Given the description of an element on the screen output the (x, y) to click on. 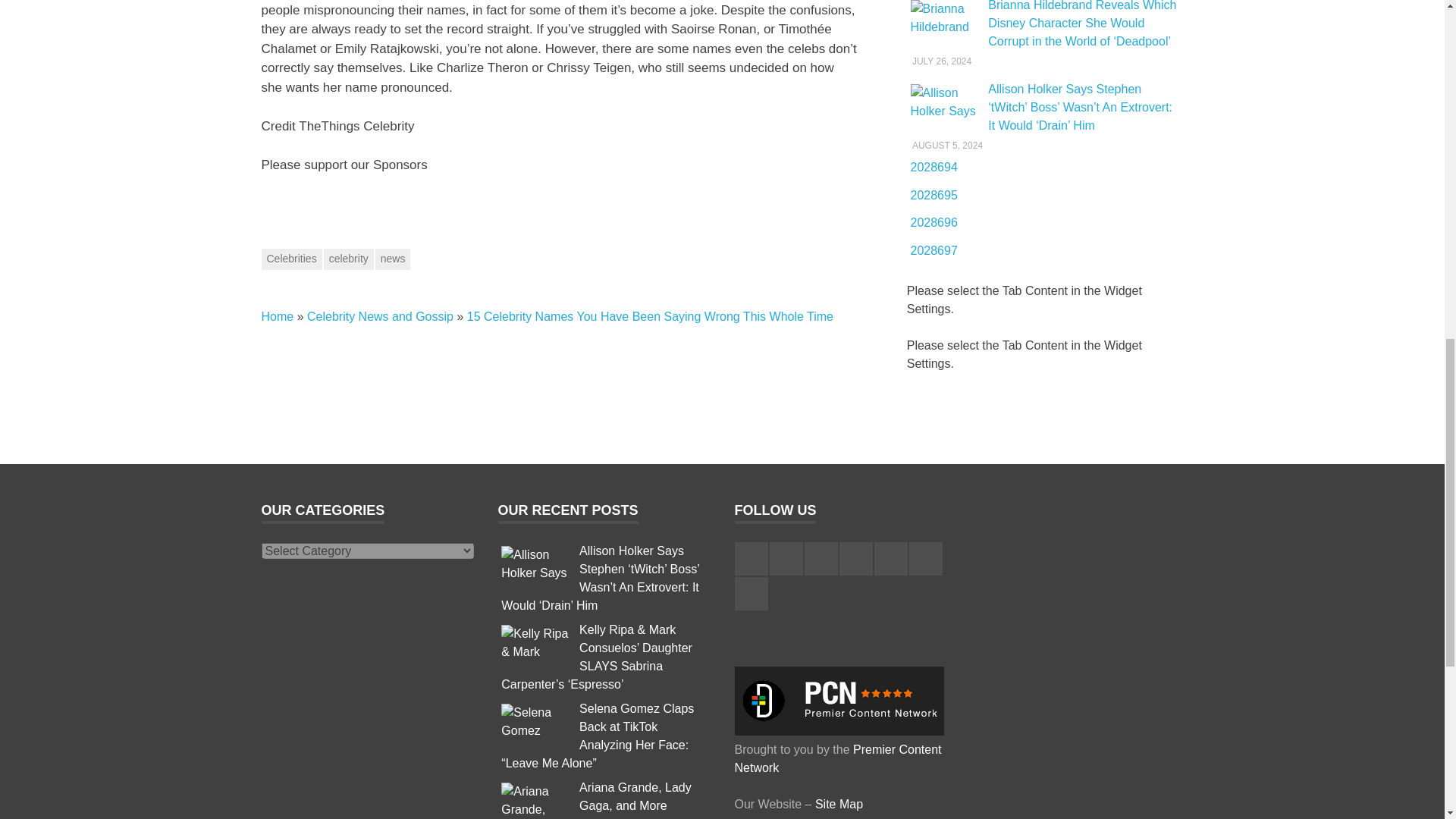
Home (277, 316)
celebrity (348, 259)
news (392, 259)
Celebrities (290, 259)
Celebrity News and Gossip (379, 316)
Home (277, 316)
Celebrity News and Gossip (379, 316)
